Given the description of an element on the screen output the (x, y) to click on. 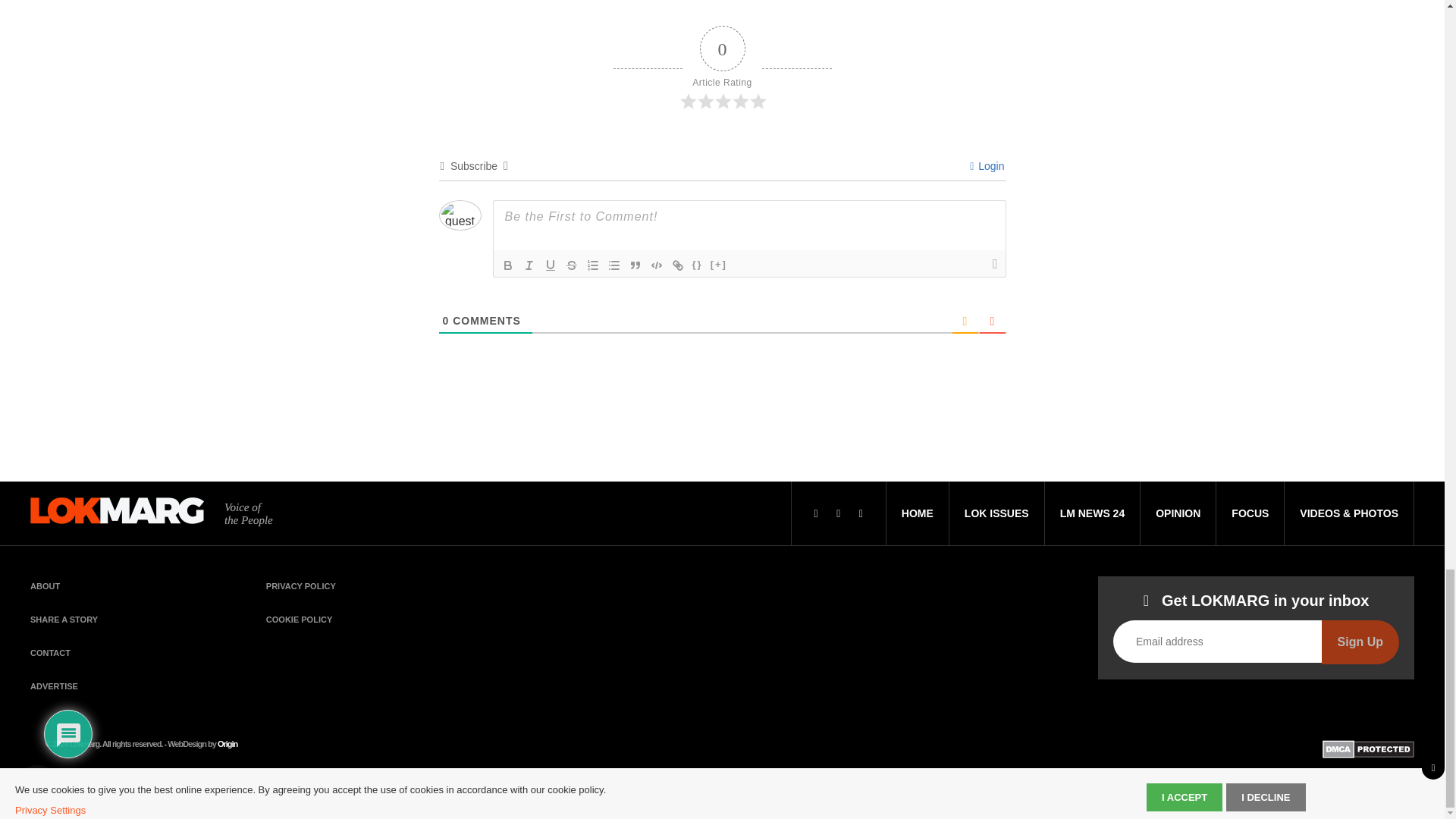
Sign Up (1360, 641)
Login (986, 165)
